Given the description of an element on the screen output the (x, y) to click on. 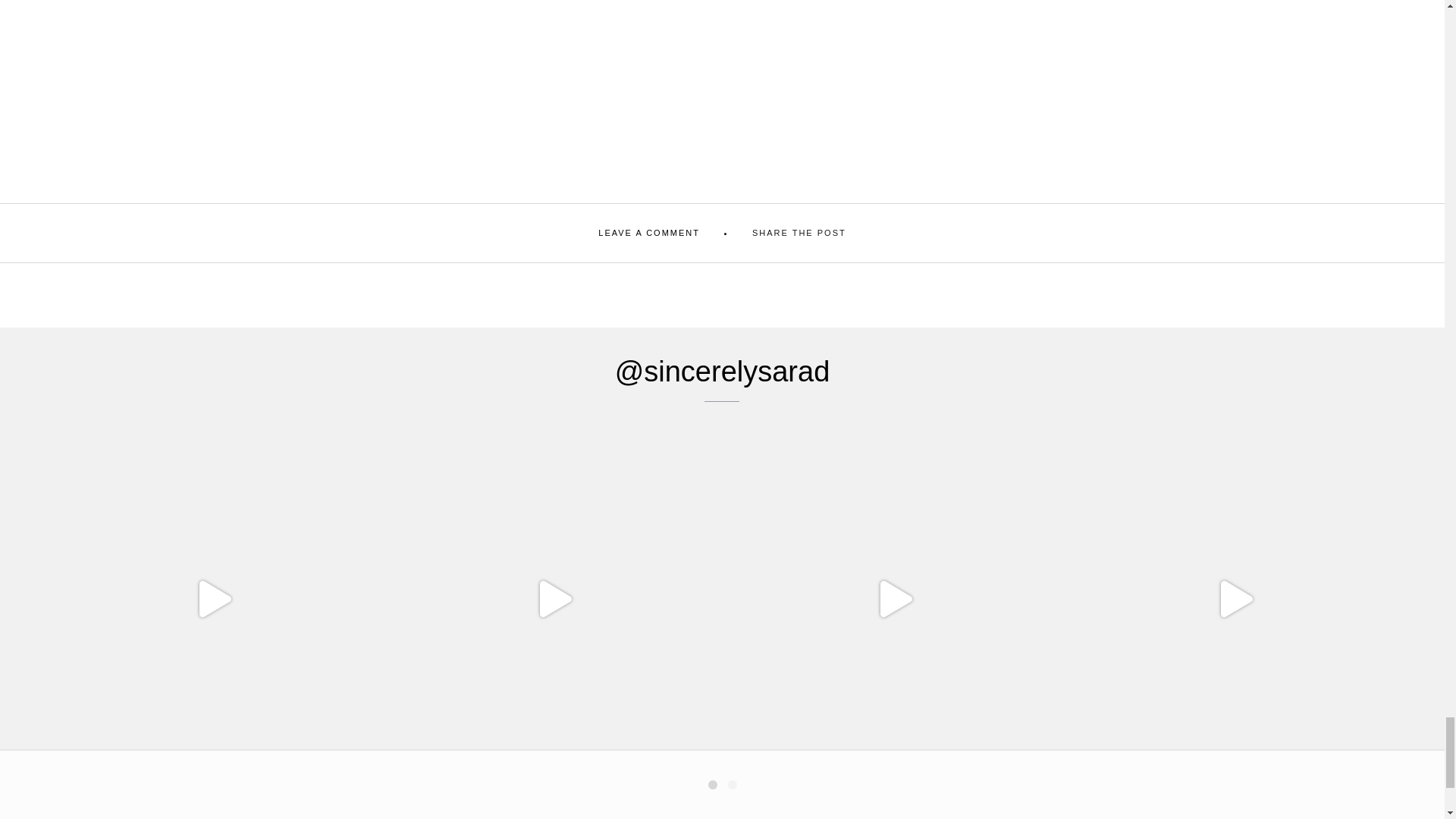
LEAVE A COMMENT (649, 232)
LEAVE A COMMENT (649, 232)
